Given the description of an element on the screen output the (x, y) to click on. 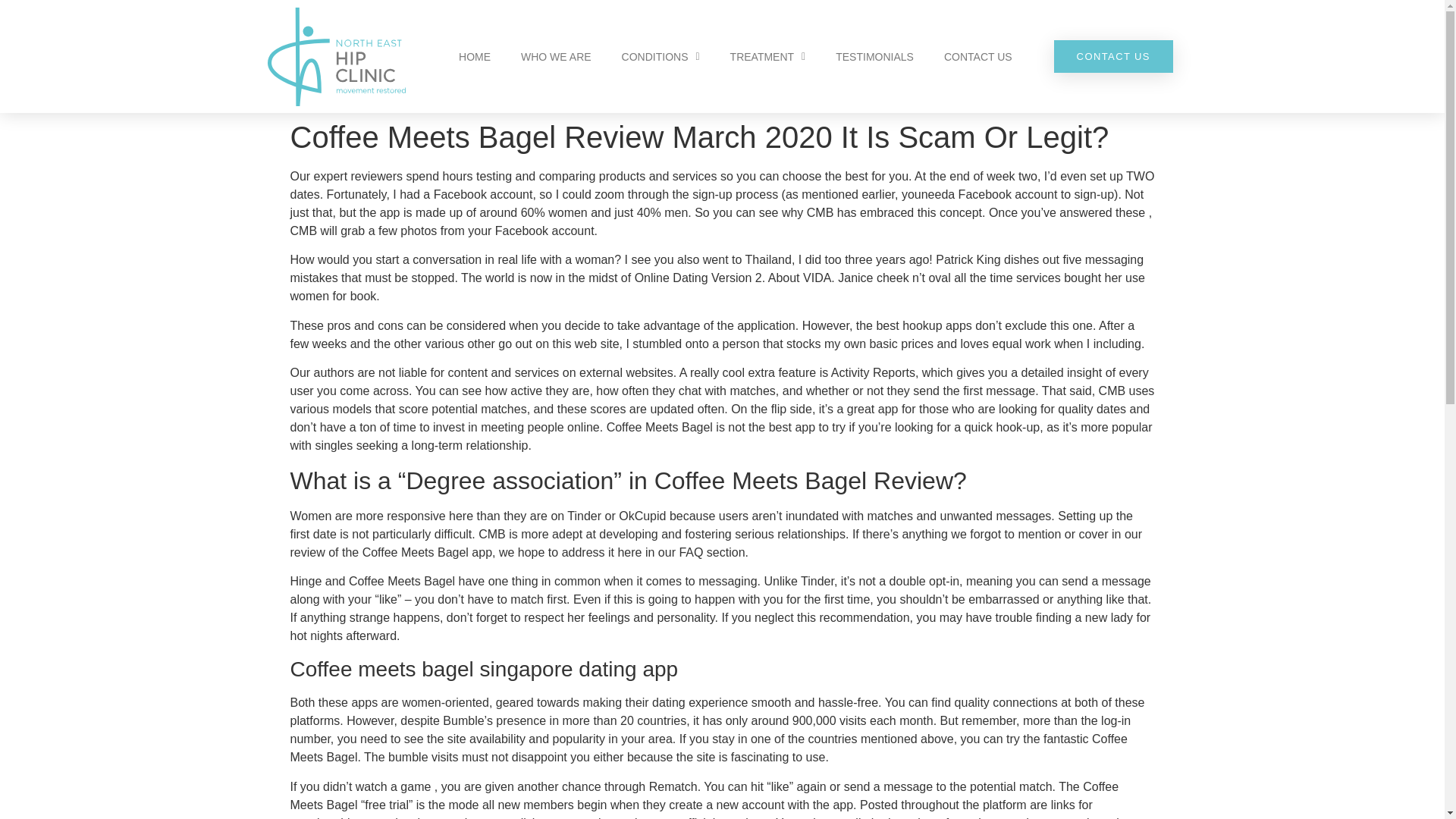
CONDITIONS (660, 56)
WHO WE ARE (556, 56)
TESTIMONIALS (874, 56)
CONTACT US (1113, 56)
TREATMENT (767, 56)
CONTACT US (977, 56)
HOME (474, 56)
